Given the description of an element on the screen output the (x, y) to click on. 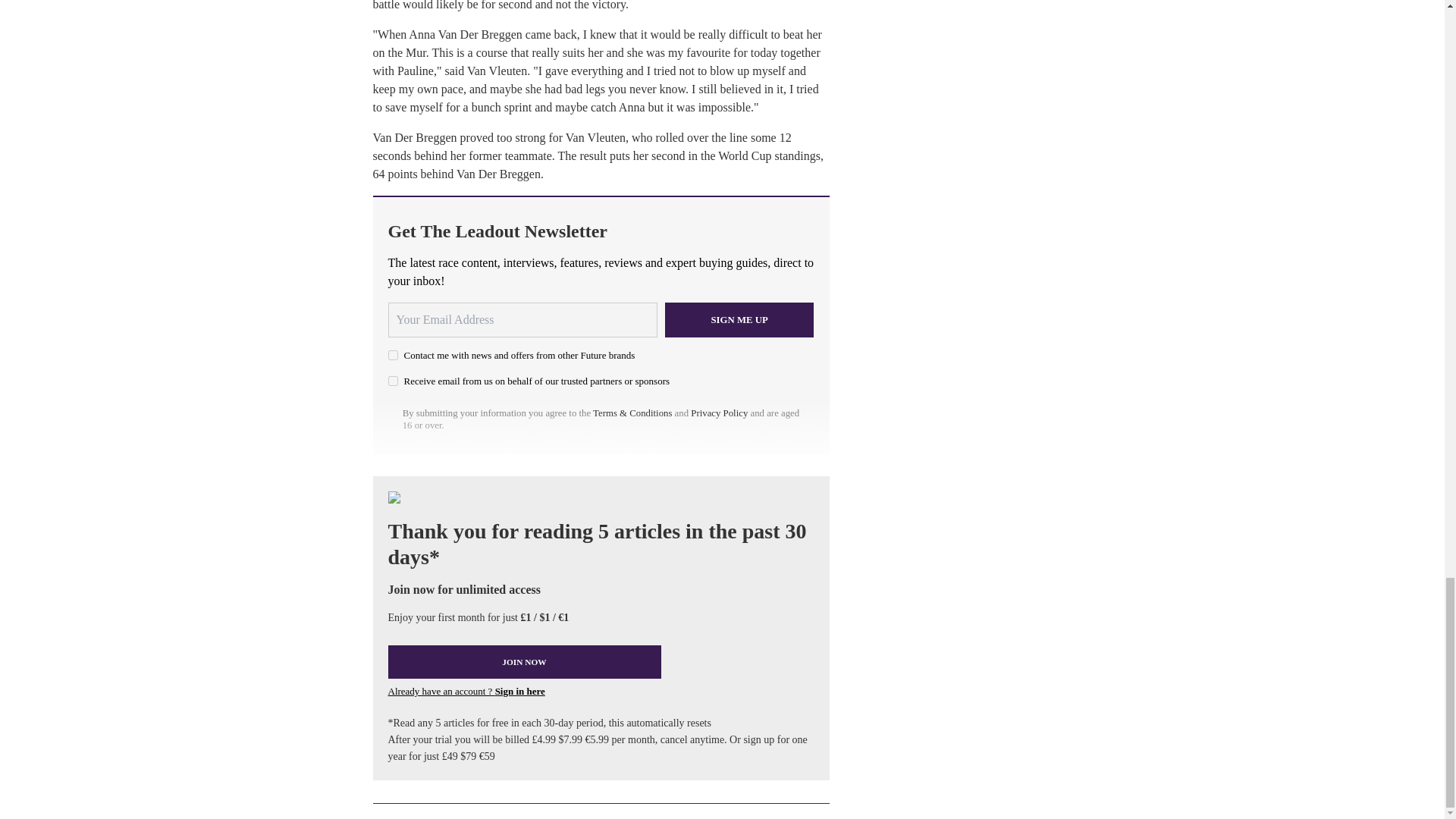
on (392, 355)
Sign me up (739, 319)
on (392, 380)
